Given the description of an element on the screen output the (x, y) to click on. 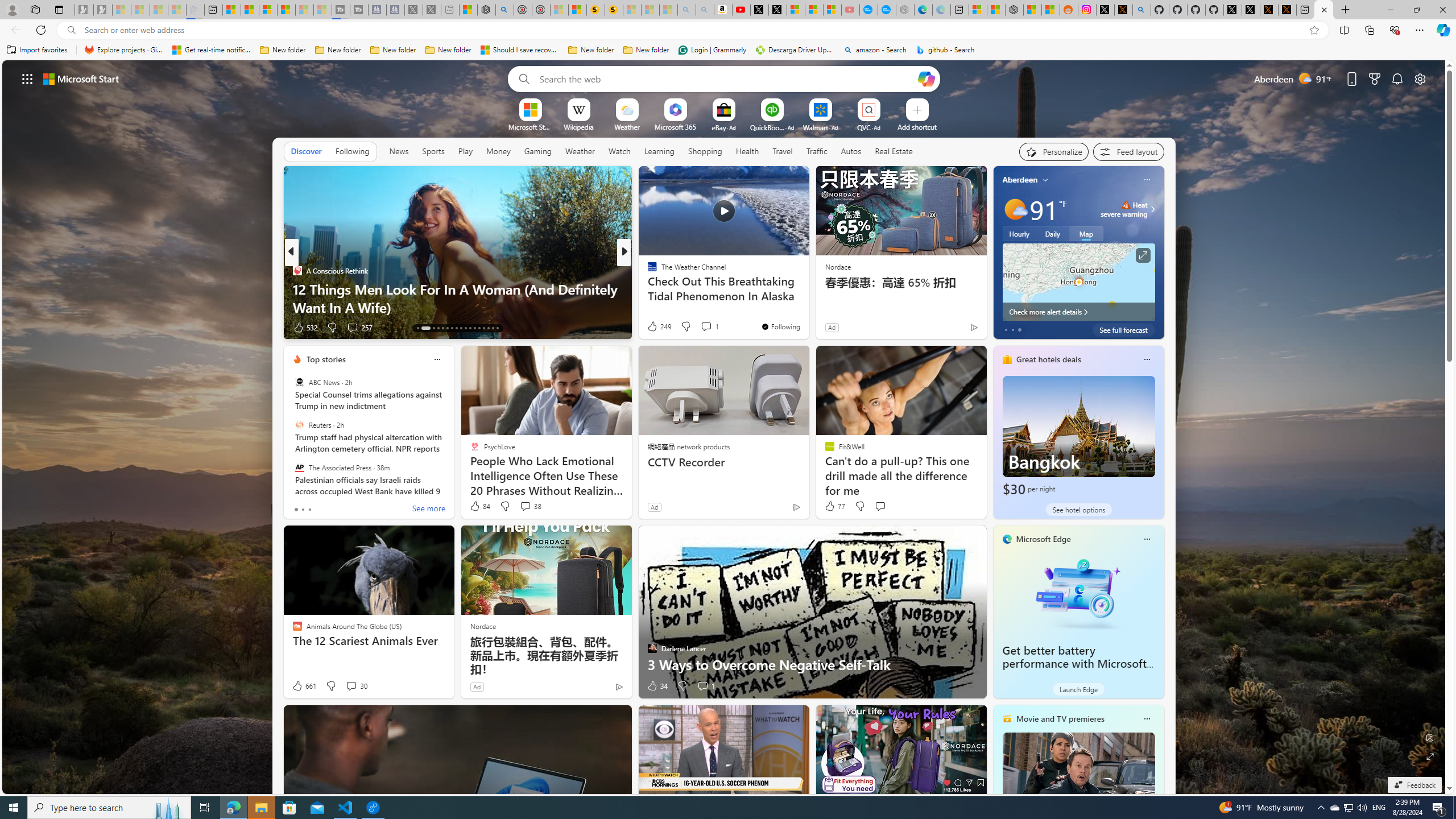
CNBC (647, 270)
Log in to X / X (1105, 9)
AutomationID: waffle (27, 78)
Microsoft account | Microsoft Account Privacy Settings (977, 9)
Class: icon-img (1146, 718)
Verywell Mind (647, 288)
Enter your search term (726, 78)
Sports (432, 151)
GlocalMe (656, 288)
